Given the description of an element on the screen output the (x, y) to click on. 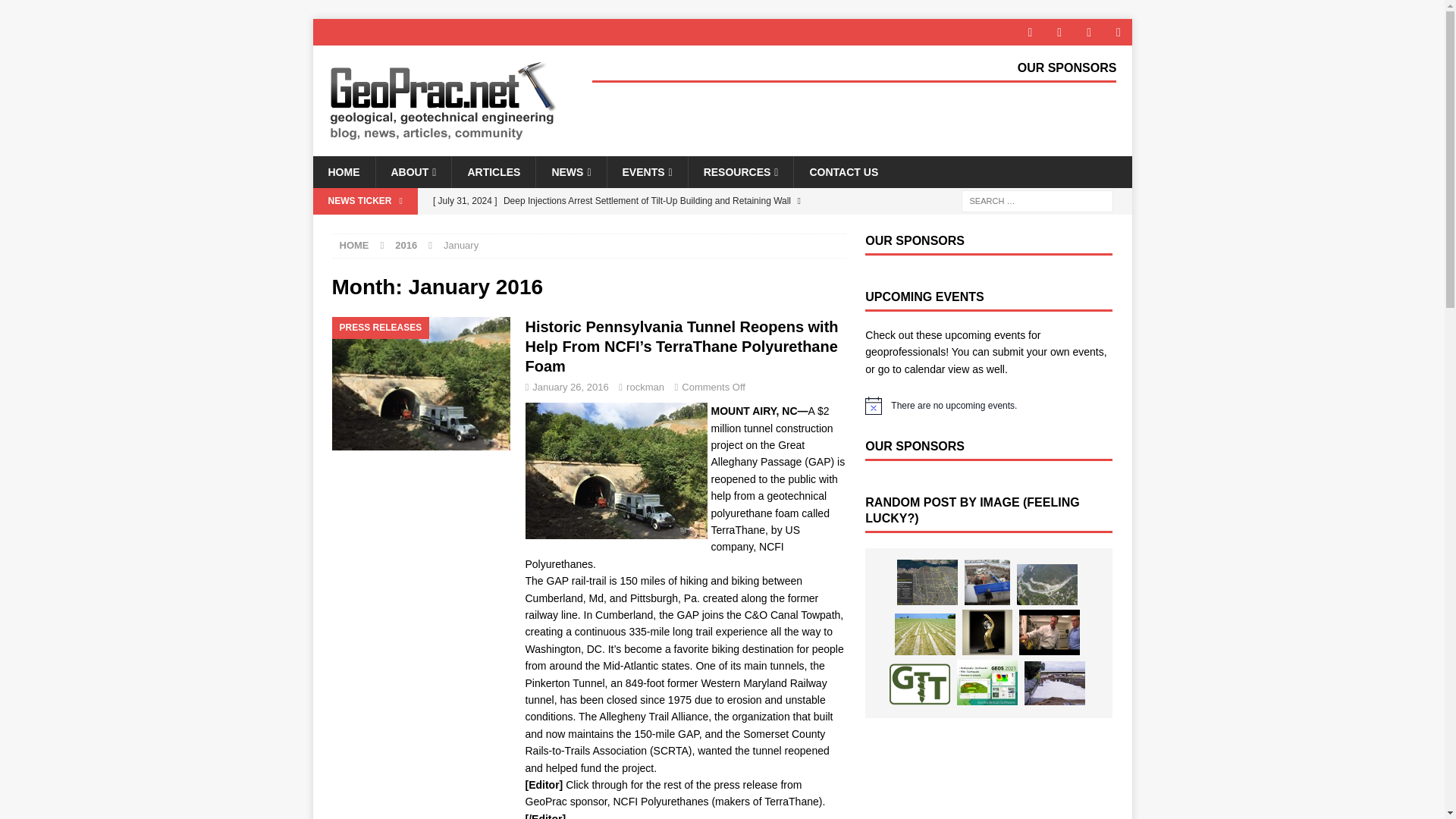
January 26, 2016 (570, 386)
Yearly Archives (405, 244)
ARTICLES (493, 172)
HOME (343, 172)
Pinkerton Tunnel (615, 470)
RESOURCES (740, 172)
TerraThane, by US company, NCFI Polyurethanes (661, 547)
EVENTS (647, 172)
HOME (354, 244)
